Given the description of an element on the screen output the (x, y) to click on. 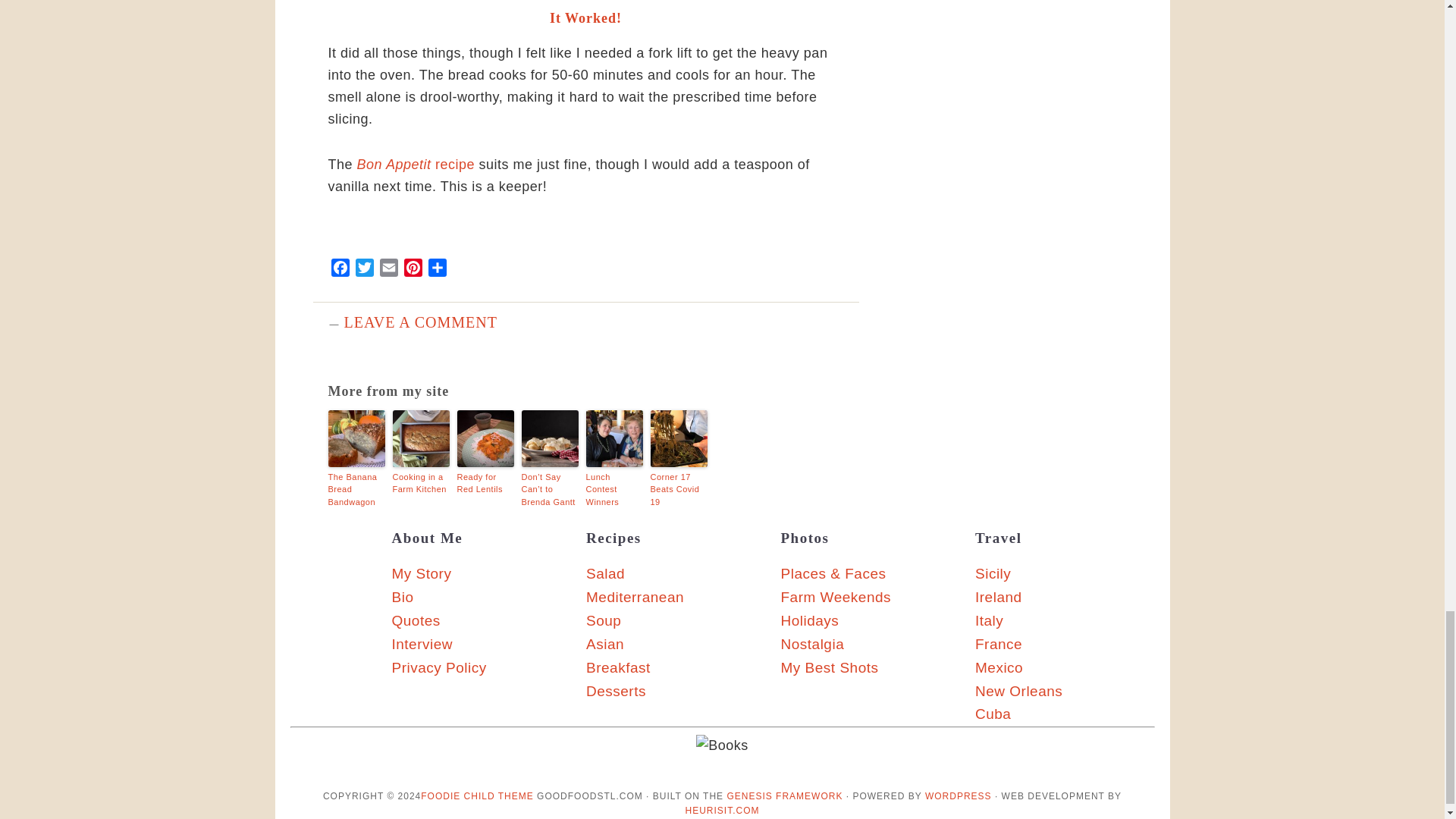
Bon Appetit recipe (415, 164)
Twitter (363, 269)
Email (387, 269)
Twitter (363, 269)
Facebook (339, 269)
Email (387, 269)
Pinterest (412, 269)
Facebook (339, 269)
Share (436, 269)
Pinterest (412, 269)
